Given the description of an element on the screen output the (x, y) to click on. 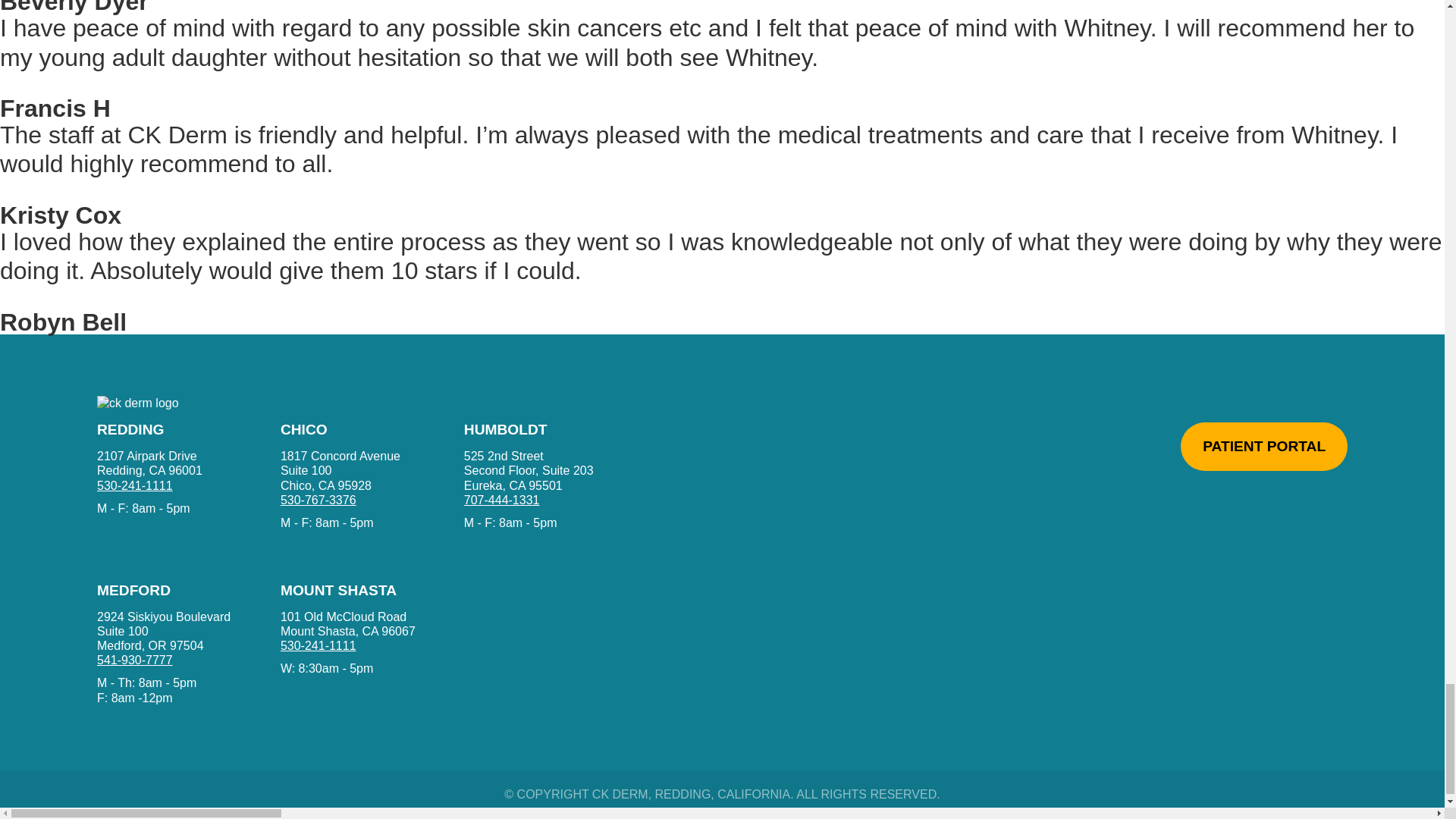
541-930-7777 (135, 659)
530-241-1111 (347, 470)
530-767-3376 (318, 645)
PATIENT PORTAL (347, 623)
530-241-1111 (531, 470)
707-444-1331 (318, 499)
